Given the description of an element on the screen output the (x, y) to click on. 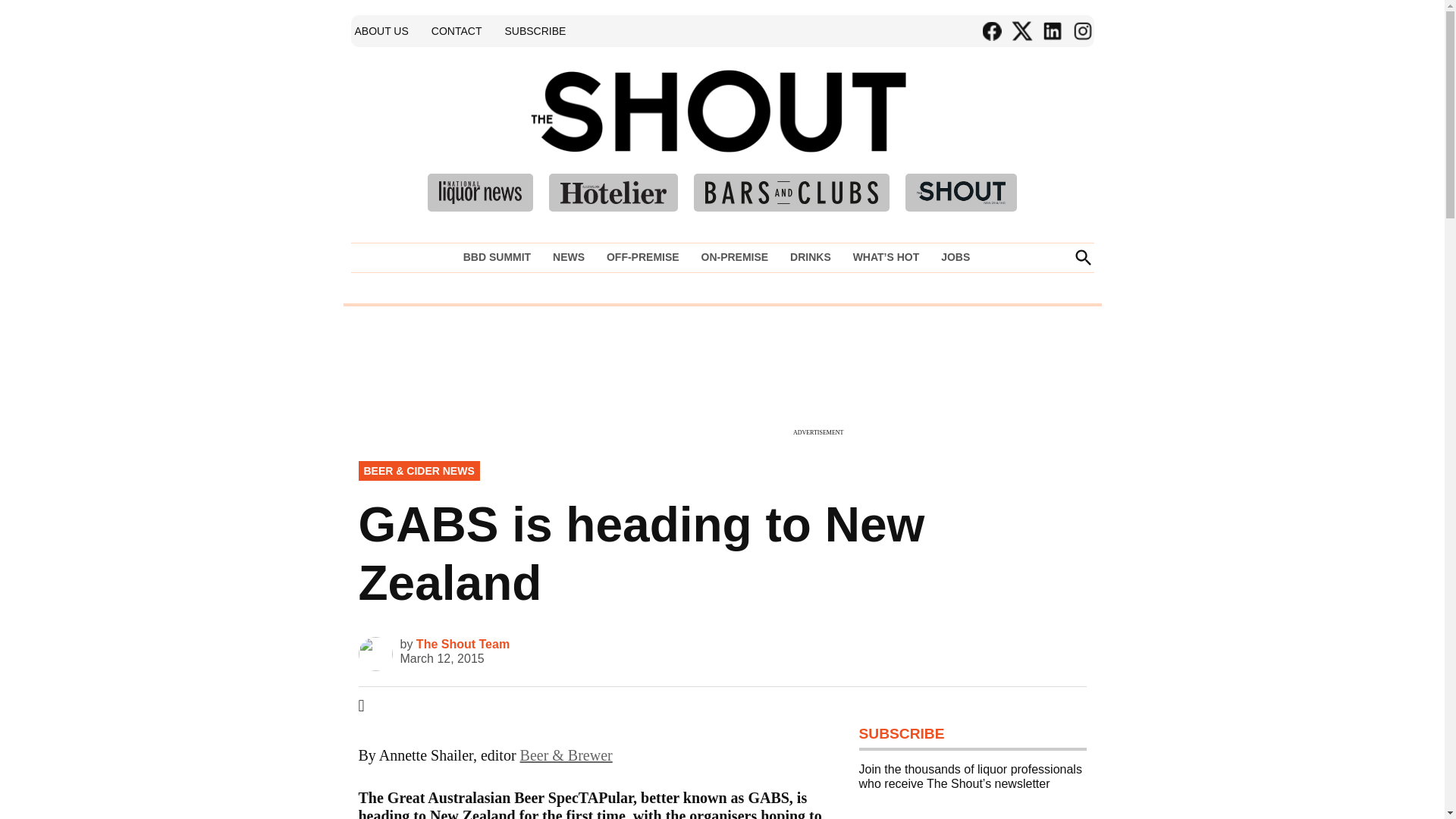
BBD SUMMIT (500, 256)
SUBSCRIBE (534, 30)
Facebook (991, 31)
ABOUT US (381, 30)
OFF-PREMISE (642, 256)
The Shout (939, 133)
Twitter (1021, 31)
ON-PREMISE (734, 256)
Instagram (1081, 31)
Linkedin (1051, 31)
